Given the description of an element on the screen output the (x, y) to click on. 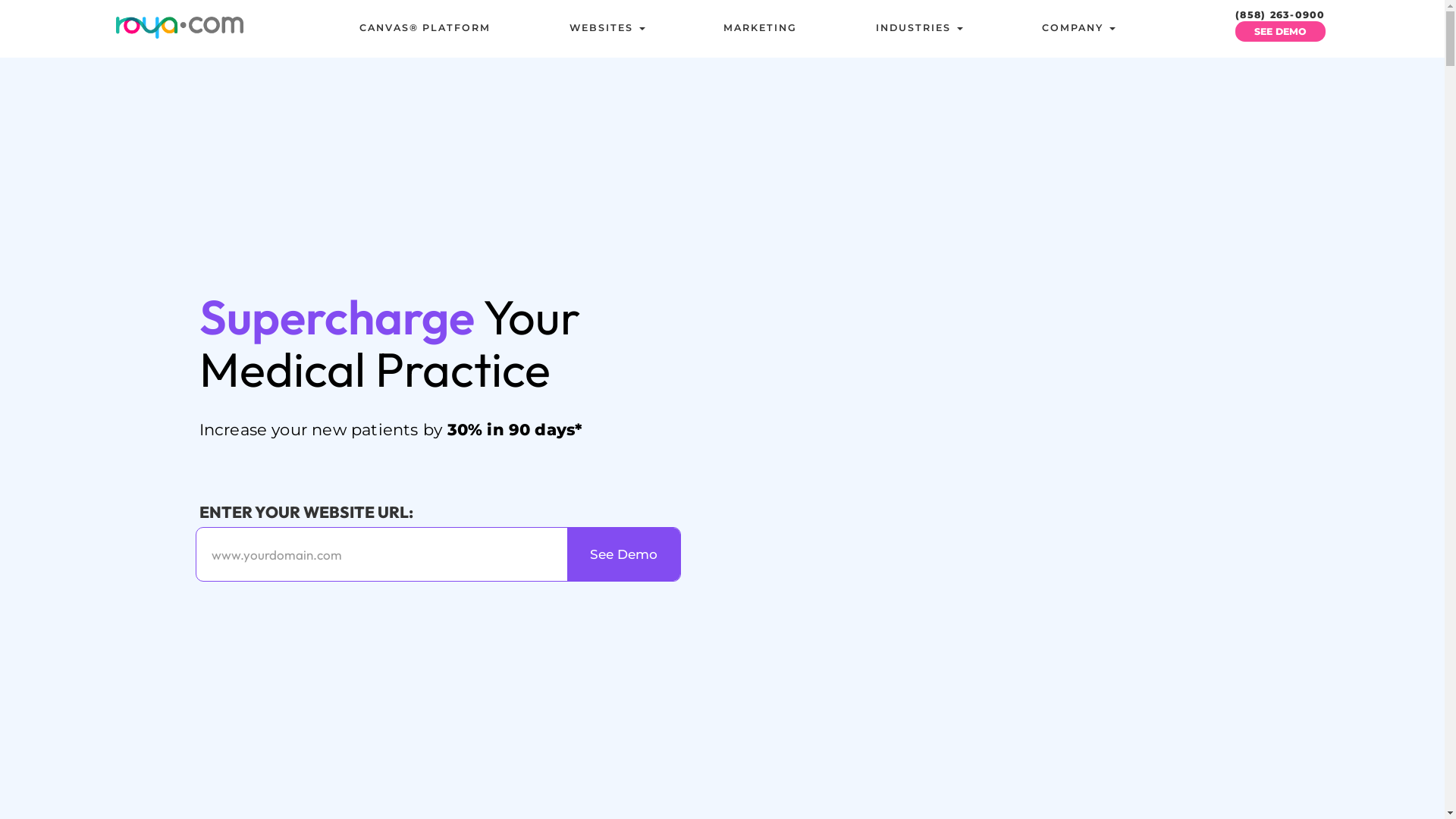
COMPANY Element type: text (1078, 28)
(858) 263-0900 Element type: text (1280, 14)
See Demo Element type: text (623, 553)
SEE DEMO Element type: text (1279, 31)
MARKETING Element type: text (760, 28)
WEBSITES Element type: text (607, 28)
INDUSTRIES Element type: text (919, 28)
